Given the description of an element on the screen output the (x, y) to click on. 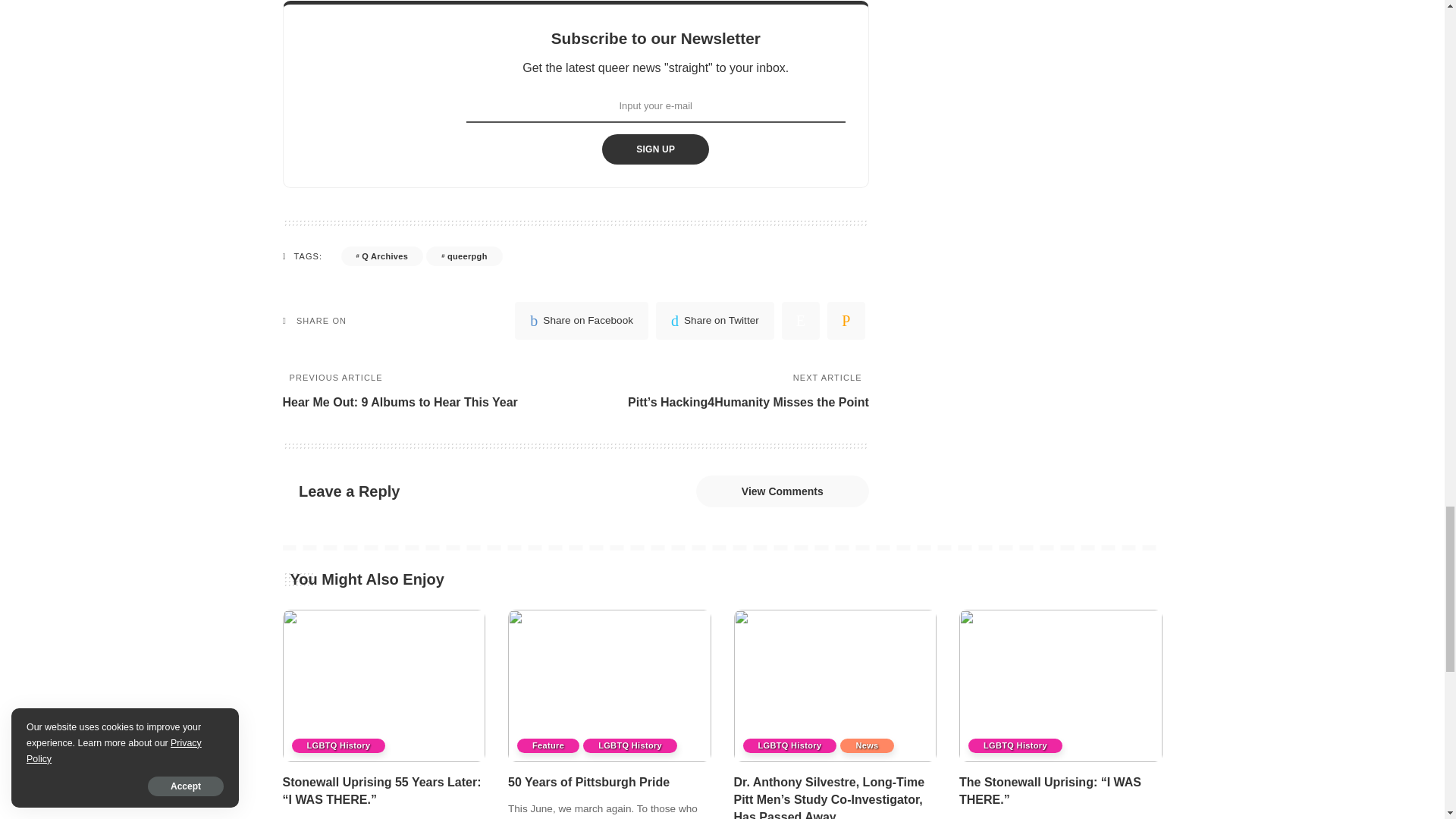
queerpgh (464, 256)
Q Archives (381, 256)
